Given the description of an element on the screen output the (x, y) to click on. 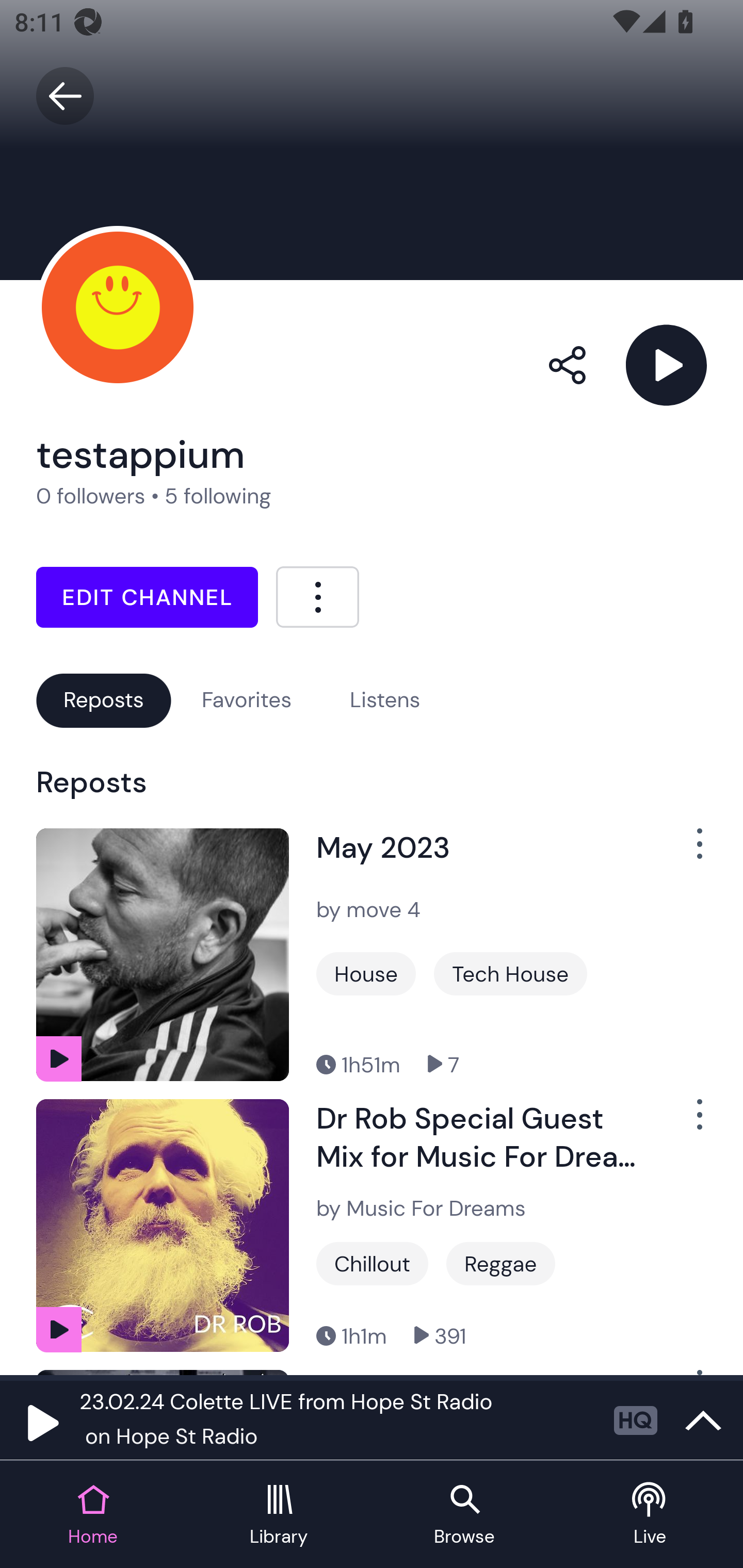
0 followers (90, 495)
5 following (217, 495)
More Menu (317, 596)
Edit Channel EDIT CHANNEL (146, 597)
Reposts (103, 699)
Favorites (246, 699)
Listens (384, 699)
Show Options Menu Button (688, 850)
House (366, 973)
Tech House (509, 973)
Show Options Menu Button (688, 1122)
Chillout (371, 1263)
Reggae (500, 1263)
Home tab Home (92, 1515)
Library tab Library (278, 1515)
Browse tab Browse (464, 1515)
Live tab Live (650, 1515)
